Given the description of an element on the screen output the (x, y) to click on. 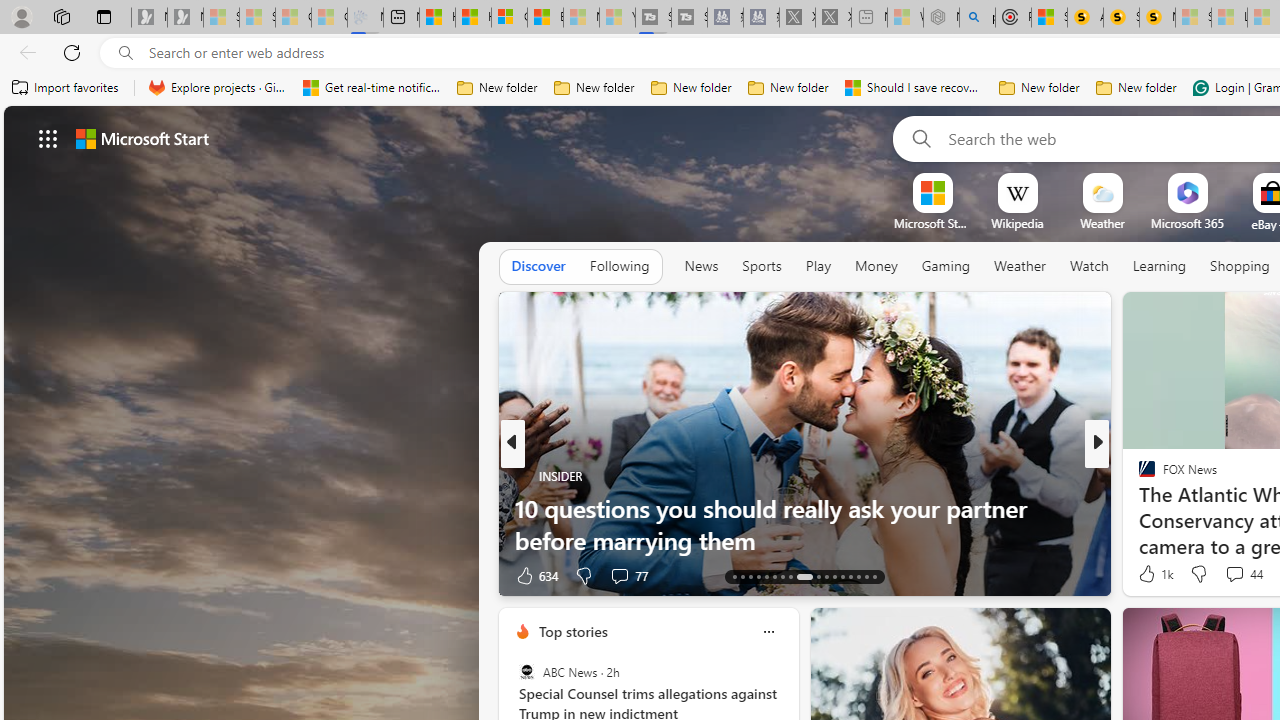
Newsletter Sign Up - Sleeping (185, 17)
View comments 77 Comment (628, 574)
AutomationID: tab-17 (765, 576)
Class: icon-img (768, 632)
634 Like (535, 574)
View comments 1 Comment (1241, 574)
View comments 4 Comment (1229, 575)
Nordace - Summer Adventures 2024 - Sleeping (941, 17)
AutomationID: tab-24 (833, 576)
